Given the description of an element on the screen output the (x, y) to click on. 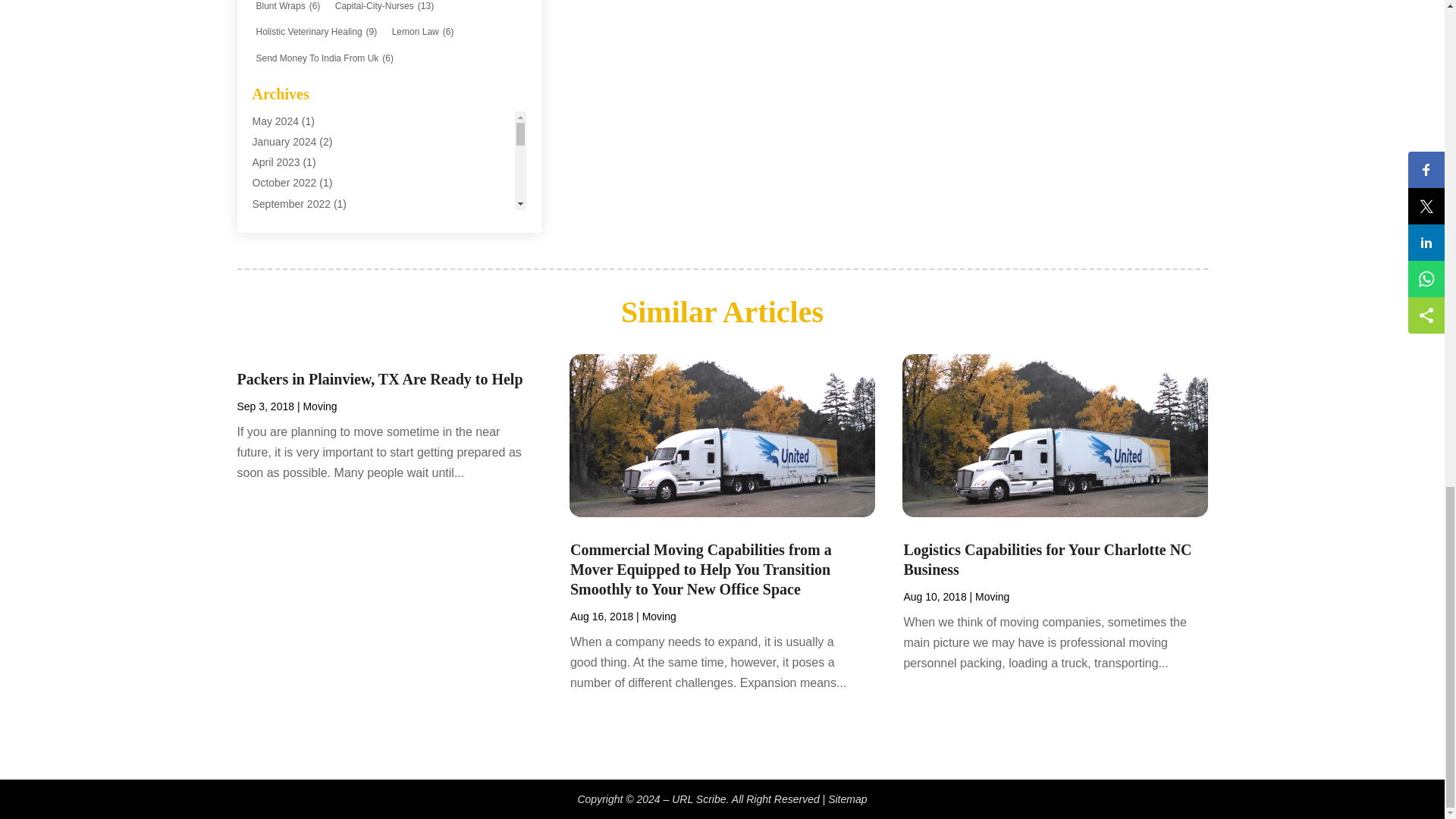
Agriculture And Forestry (308, 107)
Air Conditioning (288, 148)
Adventure And Sports (303, 65)
Adoption (272, 45)
Adhesives (276, 24)
Air Conditioner (286, 128)
Addiction Treatment Center (315, 5)
